Given the description of an element on the screen output the (x, y) to click on. 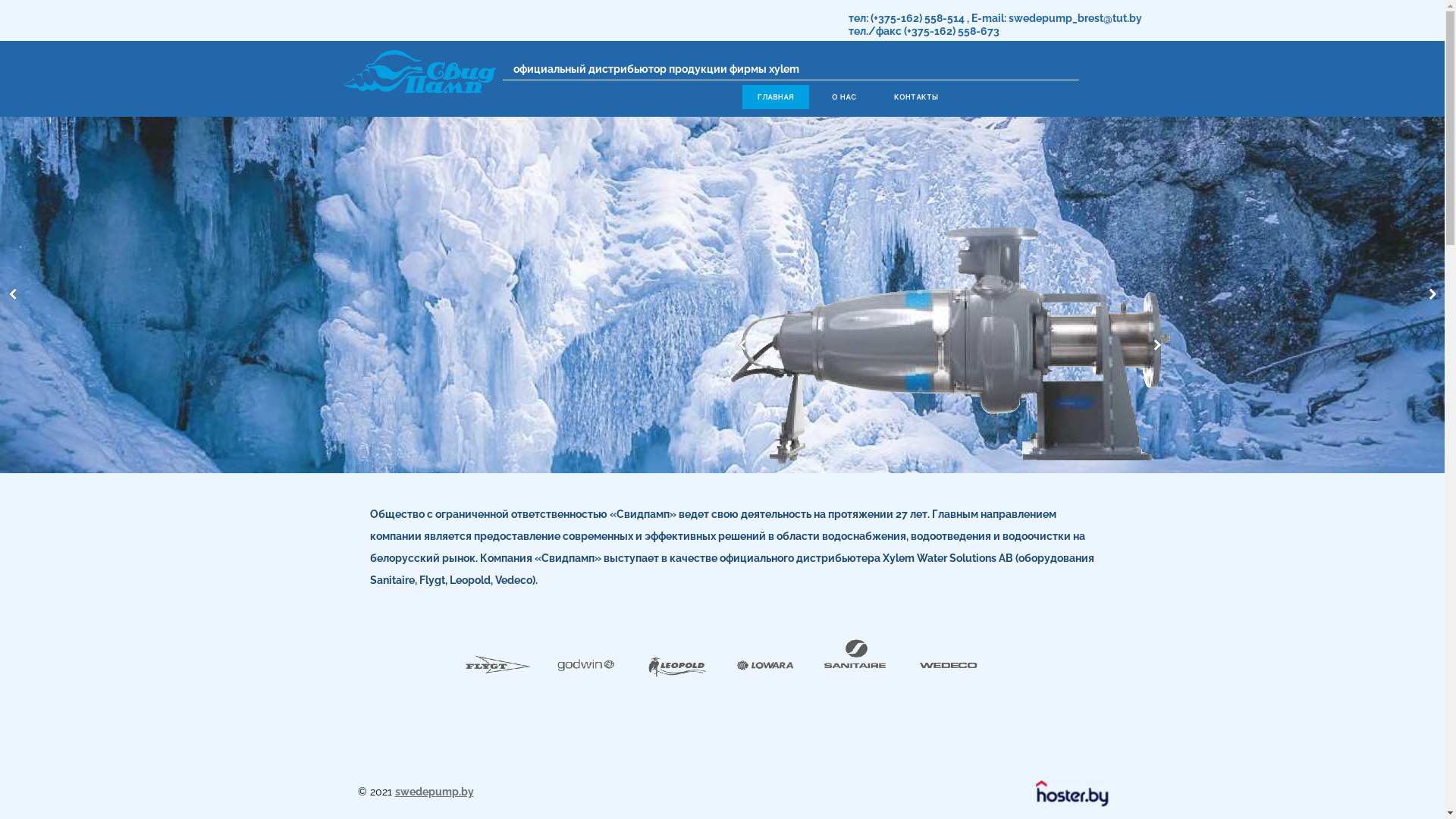
swedepump Element type: text (426, 791)
.by Element type: text (465, 791)
